Given the description of an element on the screen output the (x, y) to click on. 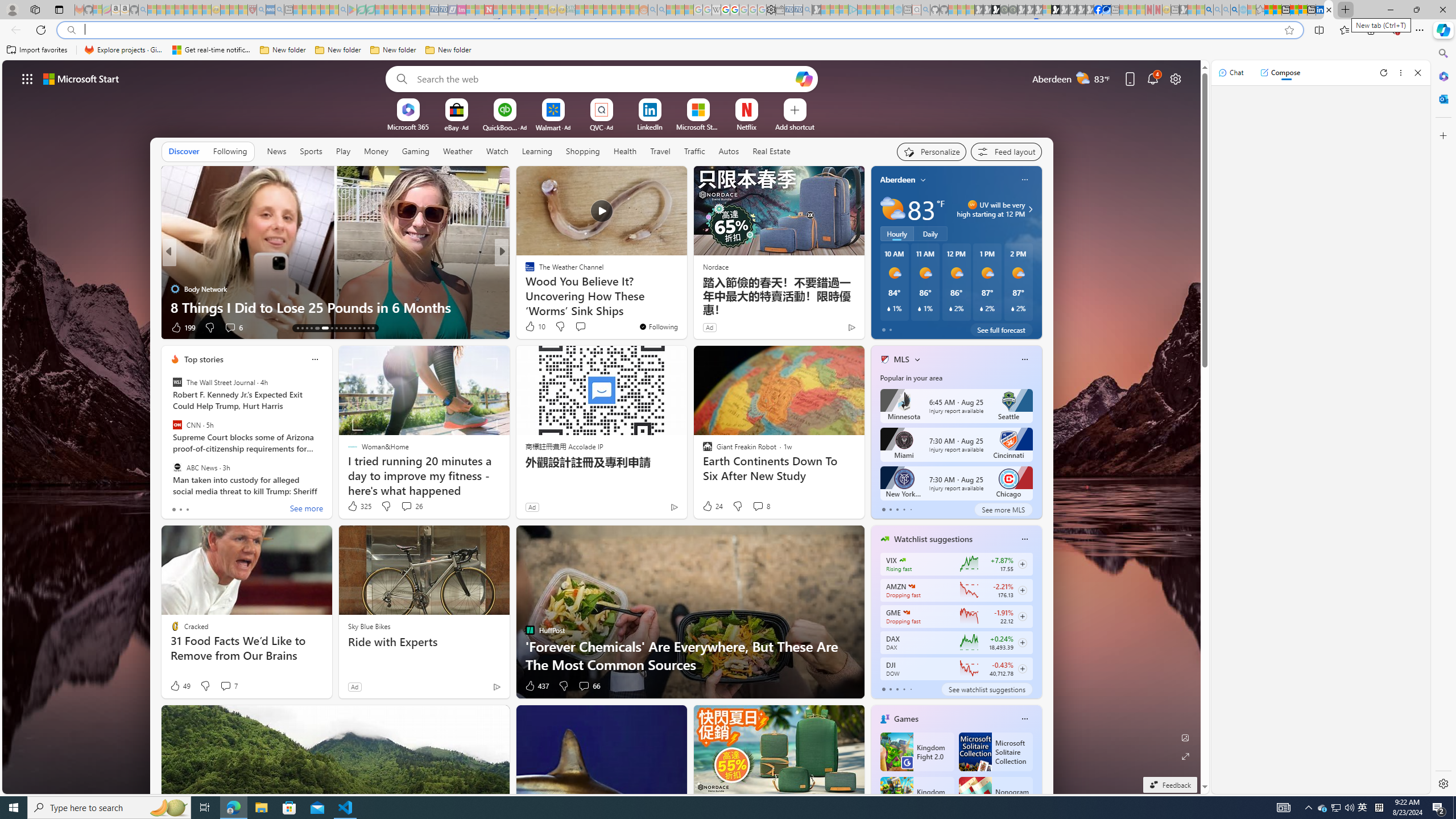
AutomationID: tab-22 (345, 328)
Far & Wide (524, 288)
Class: sd-card-game-item-img-inner (974, 796)
How to Turn Off Copilot in Windows 11 (684, 307)
Watchlist suggestions (932, 538)
23 Like (530, 327)
AutomationID: tab-15 (306, 328)
Aberdeen (897, 179)
Gaming (415, 151)
